Given the description of an element on the screen output the (x, y) to click on. 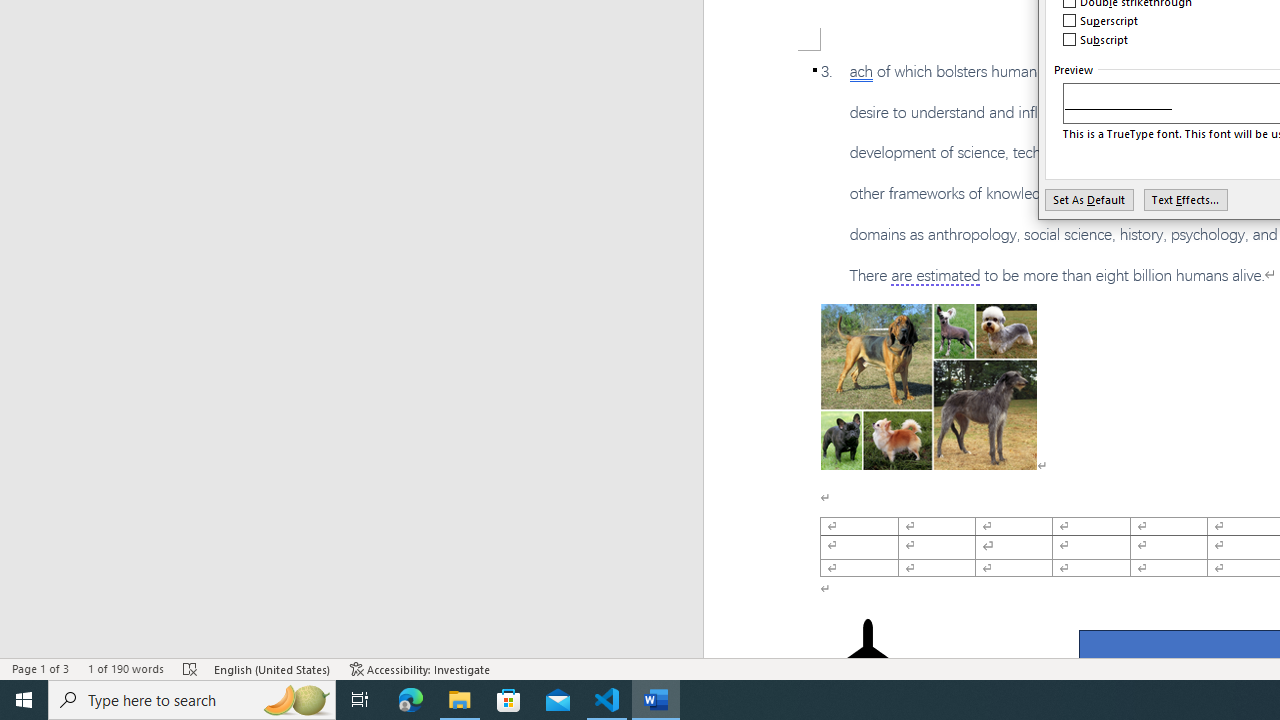
Text Effects... (1185, 199)
Visual Studio Code - 1 running window (607, 699)
Subscript (1096, 39)
Superscript (1101, 20)
Set As Default (1089, 199)
Morphological variation in six dogs (928, 386)
Type here to search (191, 699)
Airplane with solid fill (867, 657)
Search highlights icon opens search home window (295, 699)
Language English (United States) (273, 668)
Spelling and Grammar Check Errors (191, 668)
File Explorer - 1 running window (460, 699)
Start (24, 699)
